Given the description of an element on the screen output the (x, y) to click on. 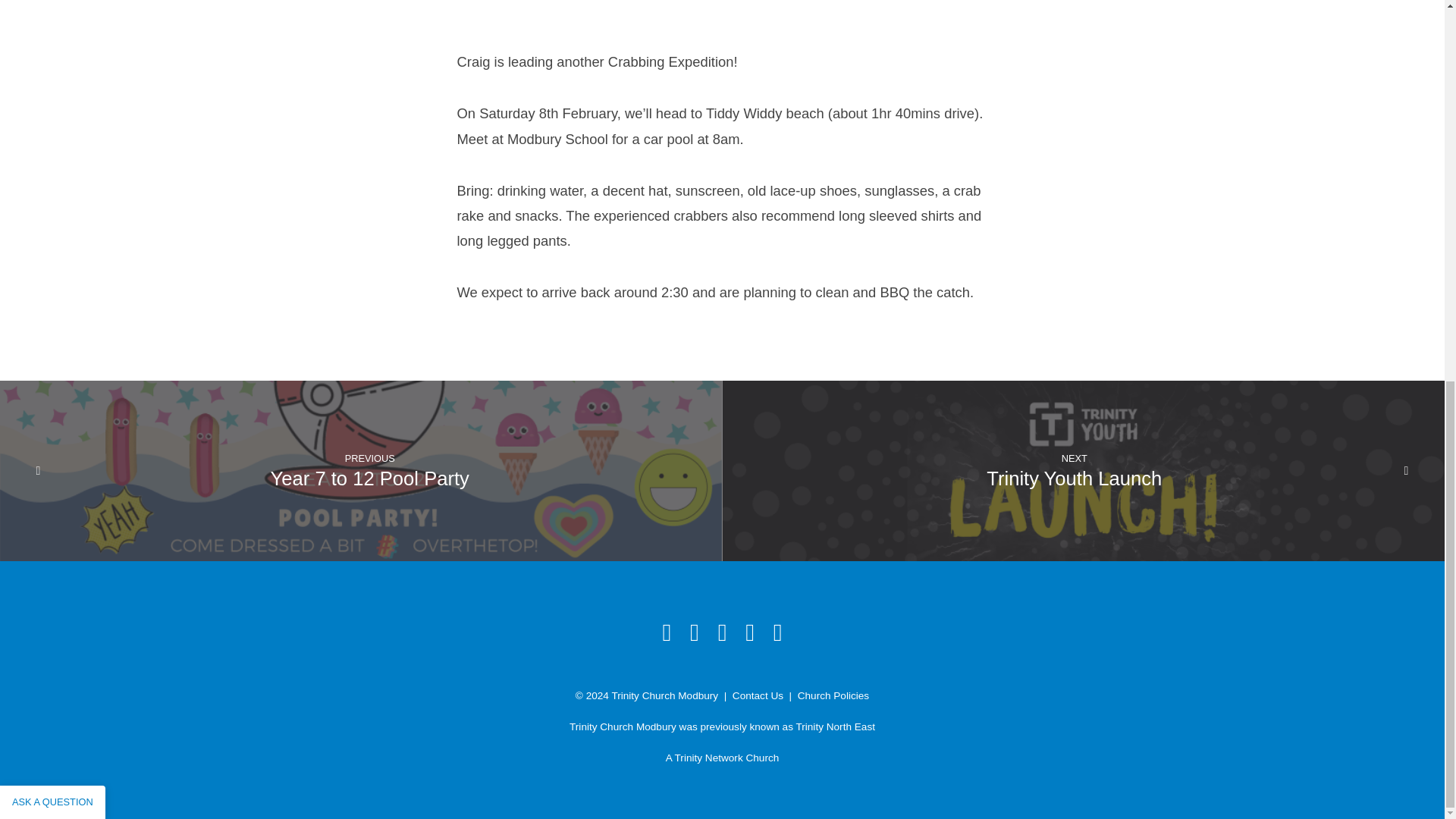
A Trinity Network Church (721, 757)
Year 7 to 12 Pool Party (369, 477)
Trinity Youth Launch (1074, 477)
Church Policies (833, 695)
Contact Us (757, 695)
